Given the description of an element on the screen output the (x, y) to click on. 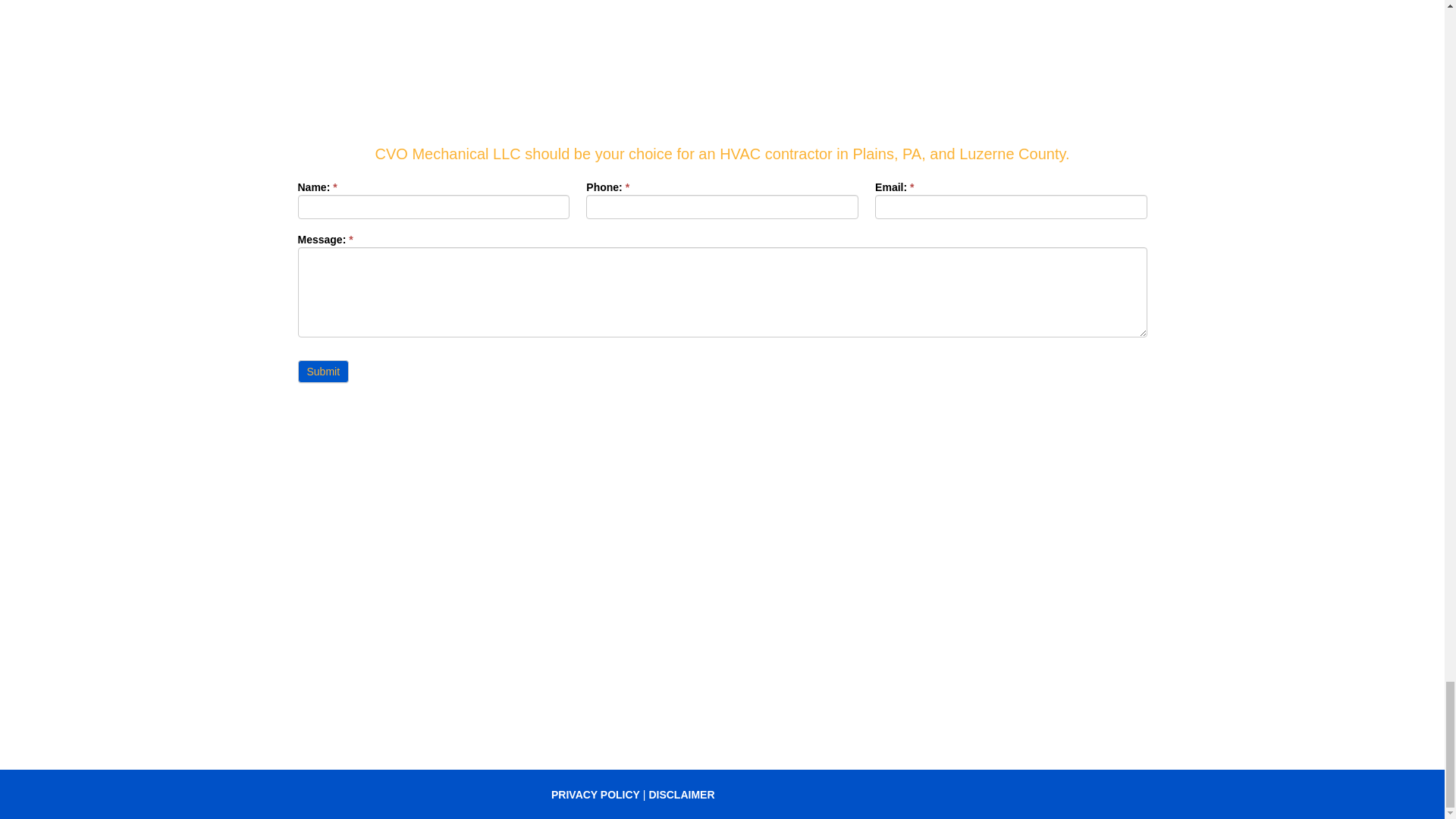
Submit (323, 371)
DISCLAIMER (680, 794)
PRIVACY POLICY (595, 794)
